Given the description of an element on the screen output the (x, y) to click on. 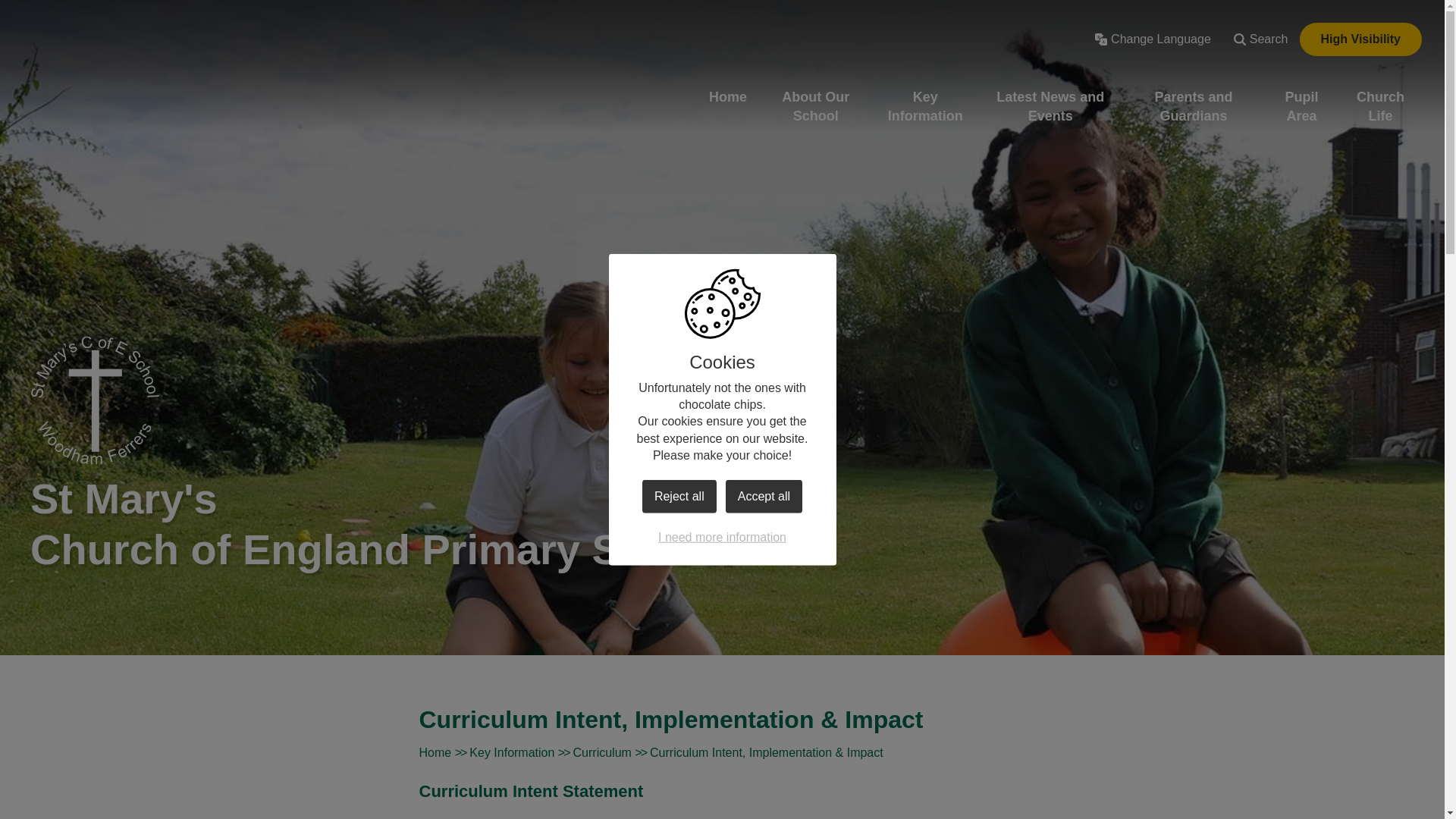
High Visibility (1361, 39)
Change Language (1153, 39)
Home (727, 97)
Search (1261, 39)
About Our School (815, 106)
Home Page (94, 401)
Key Information (924, 106)
